Given the description of an element on the screen output the (x, y) to click on. 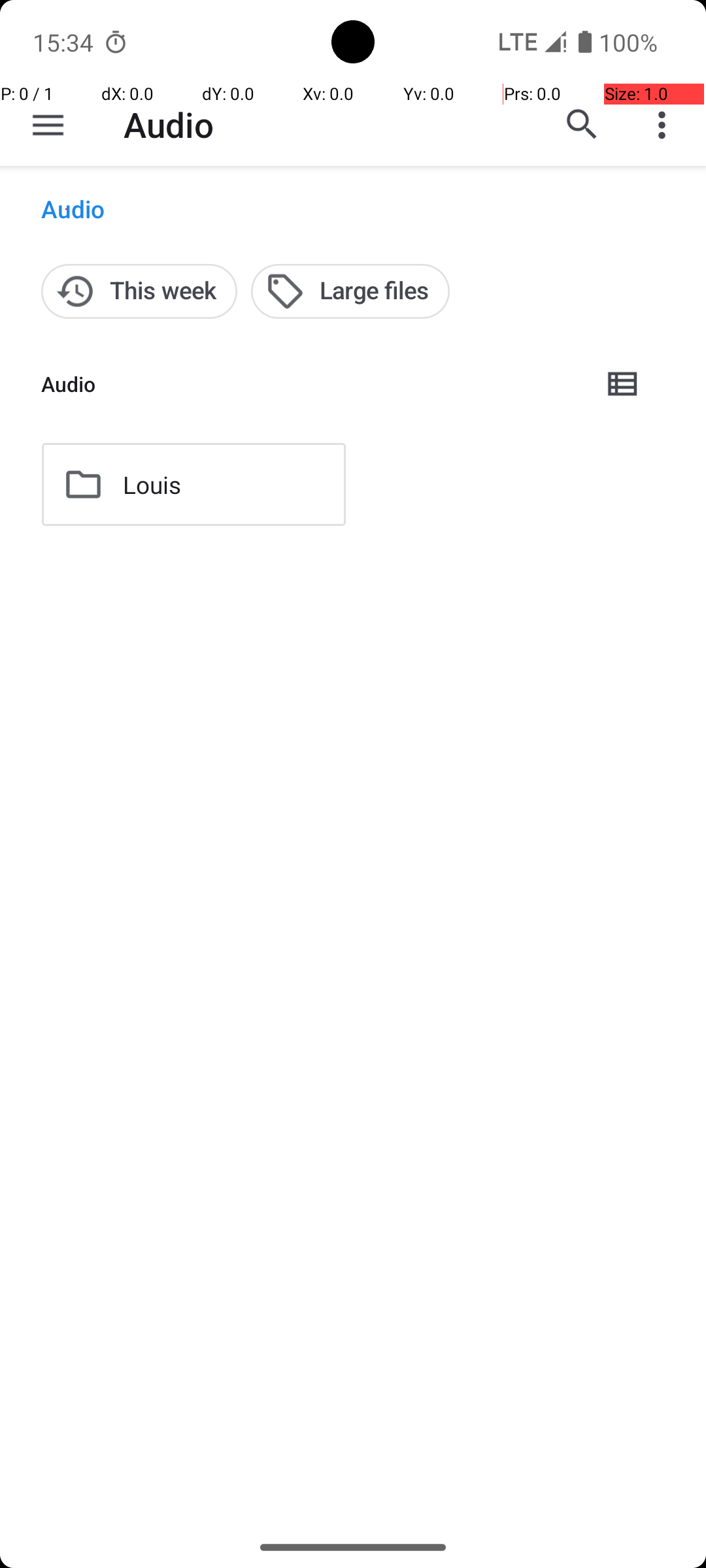
Louis Element type: android.widget.TextView (151, 484)
